Given the description of an element on the screen output the (x, y) to click on. 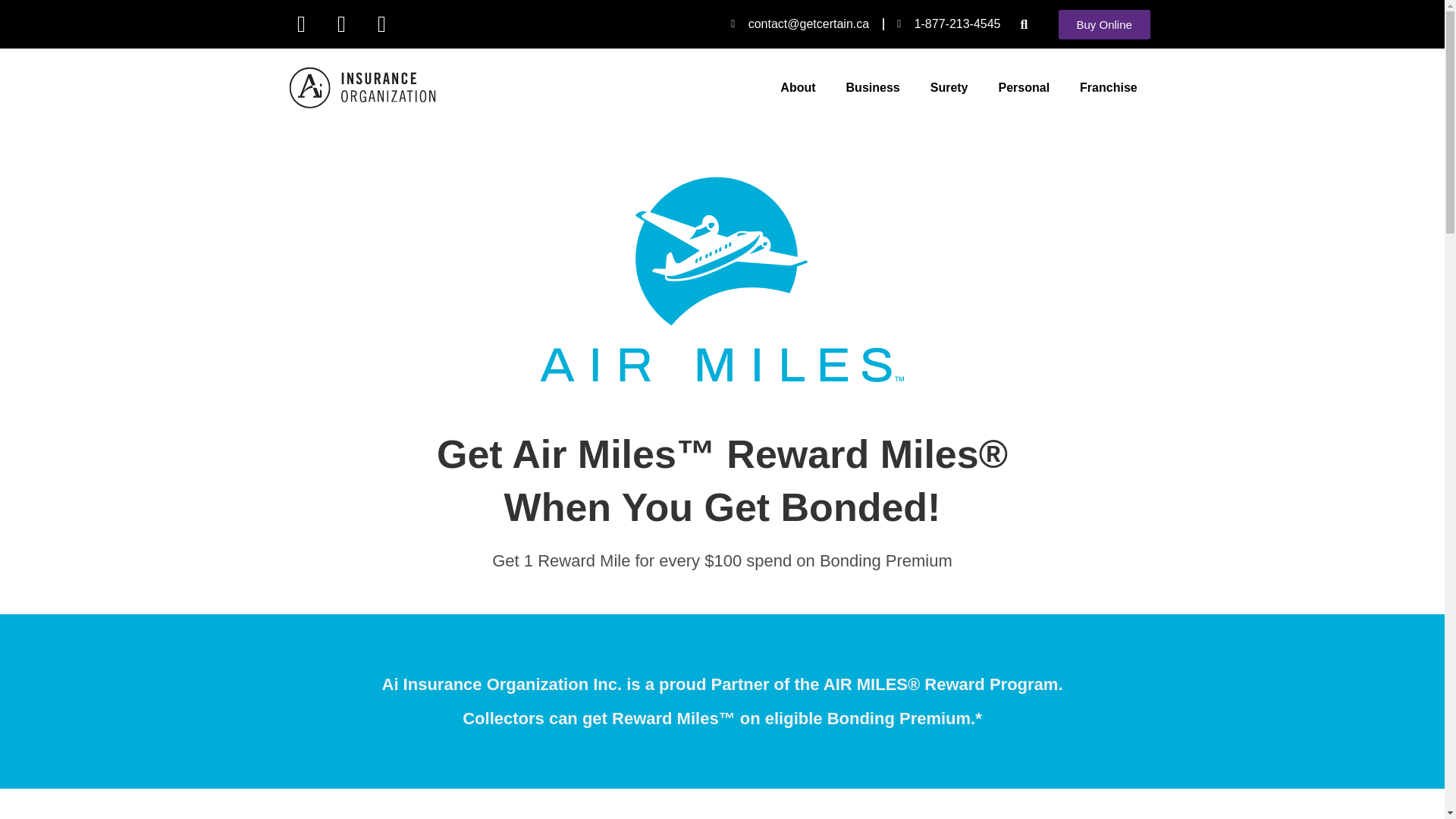
1-877-213-4545 (948, 24)
Buy Online (1104, 23)
About (797, 88)
Business (873, 88)
